Given the description of an element on the screen output the (x, y) to click on. 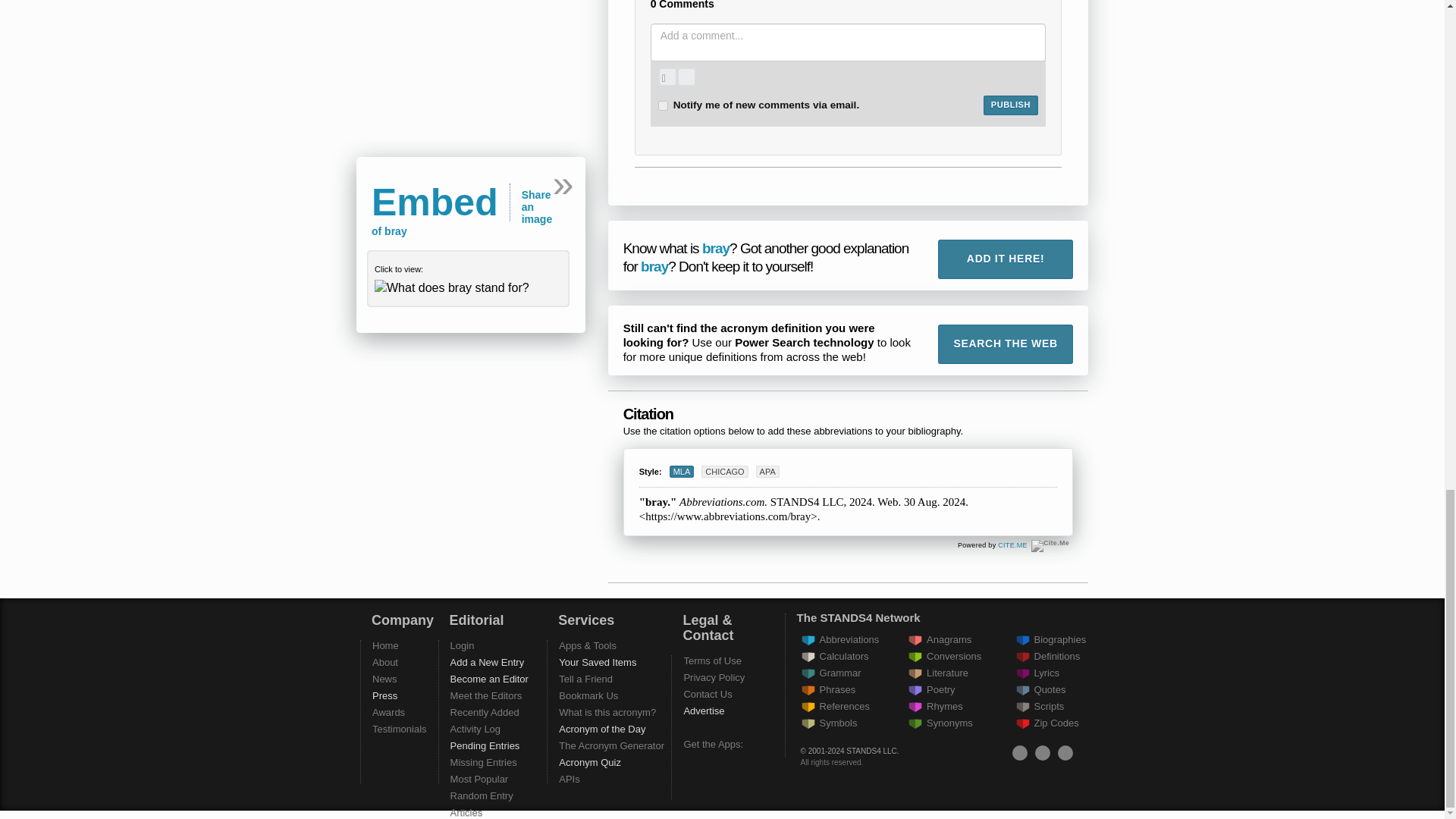
Cite.Me (1012, 544)
Upload an image (667, 76)
Cite.Me (1050, 545)
Cite.Me (1049, 545)
Record a sound (686, 76)
on (663, 105)
